Given the description of an element on the screen output the (x, y) to click on. 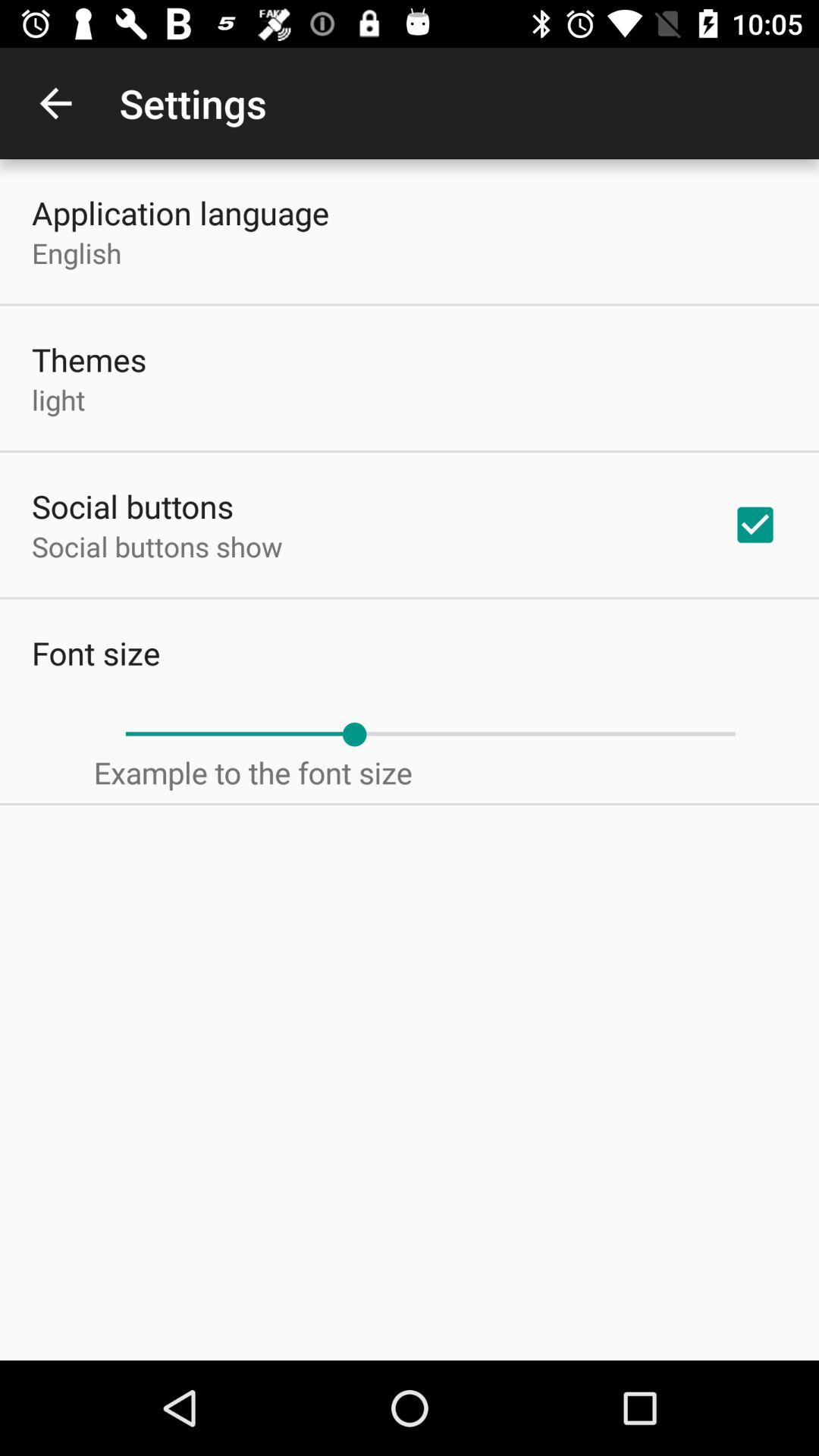
tap english icon (76, 252)
